Given the description of an element on the screen output the (x, y) to click on. 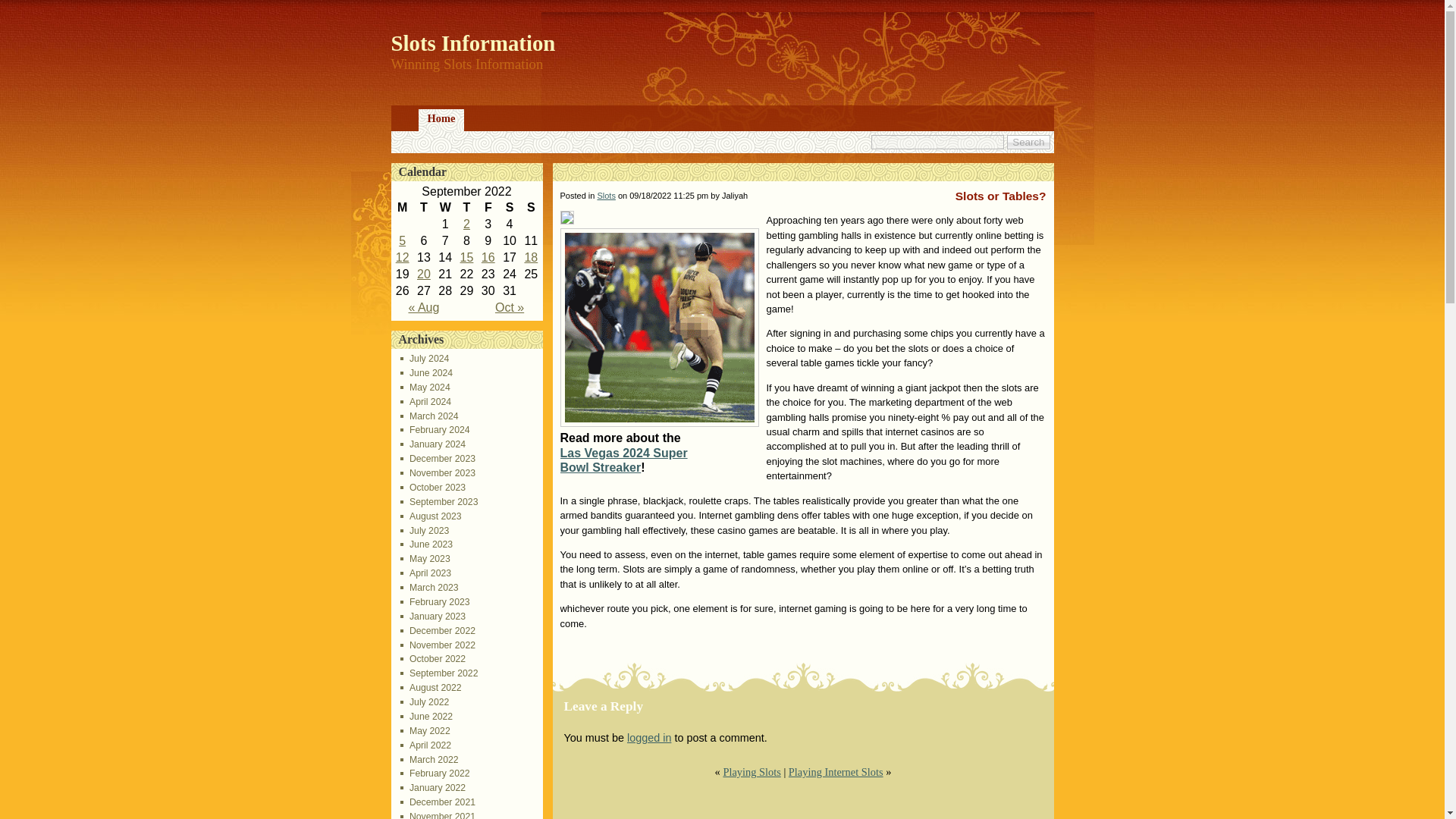
October 2022 (432, 658)
August 2022 (430, 687)
January 2024 (432, 443)
December 2022 (438, 630)
15 (467, 256)
slot machines or Tables? (402, 256)
March 2023 (429, 587)
Monday (402, 207)
Tuesday (423, 207)
June 2024 (426, 372)
20 (423, 273)
October 2023 (432, 487)
September 2023 (439, 501)
Search (1028, 142)
February 2024 (435, 429)
